Given the description of an element on the screen output the (x, y) to click on. 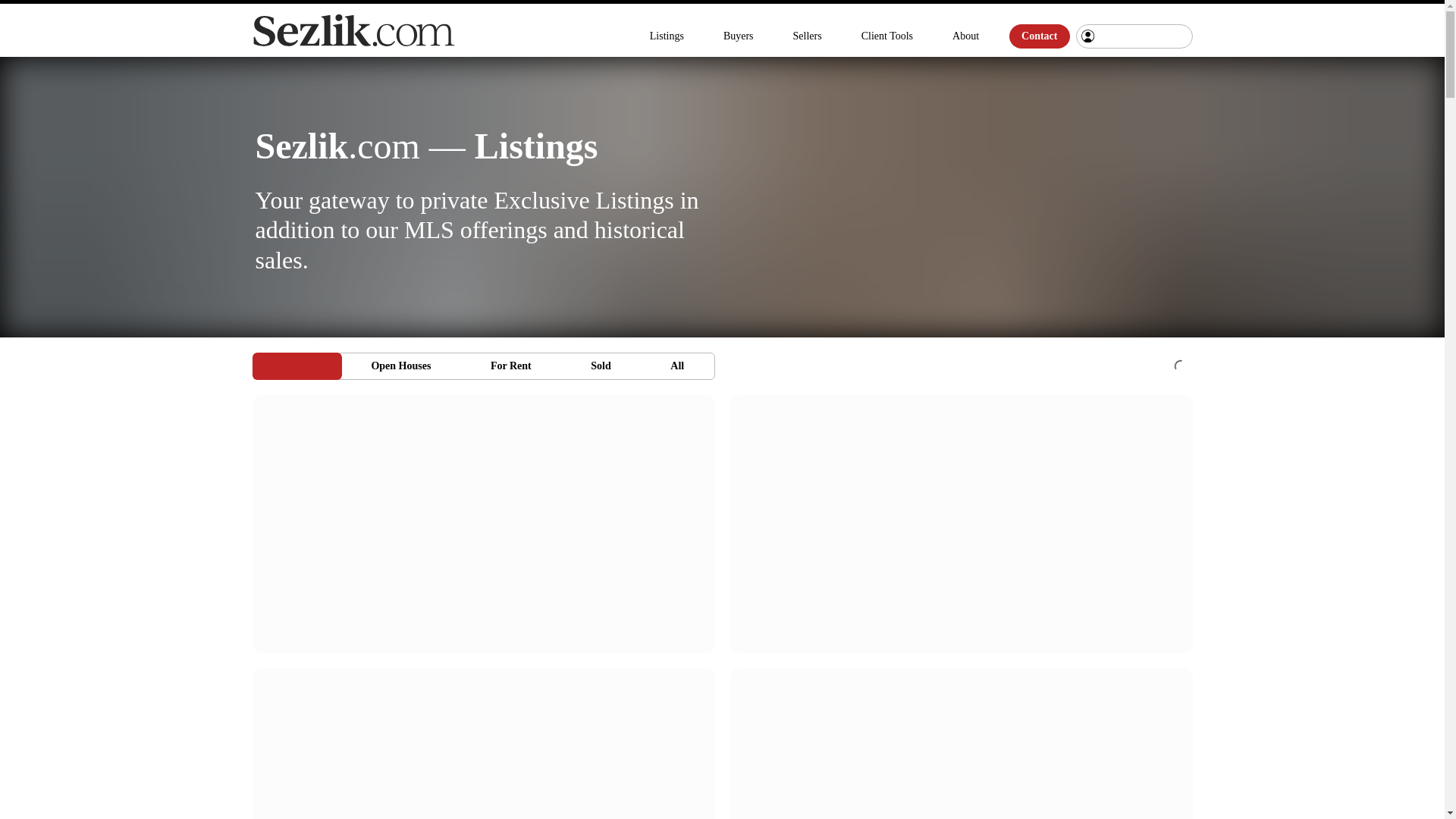
Sold (601, 366)
Client Tools (482, 366)
About (886, 36)
Listings (965, 36)
Buyers (666, 36)
Contact (738, 36)
For Rent (1038, 36)
Open Houses (511, 366)
Sellers (400, 366)
Active (807, 36)
All (296, 366)
